Given the description of an element on the screen output the (x, y) to click on. 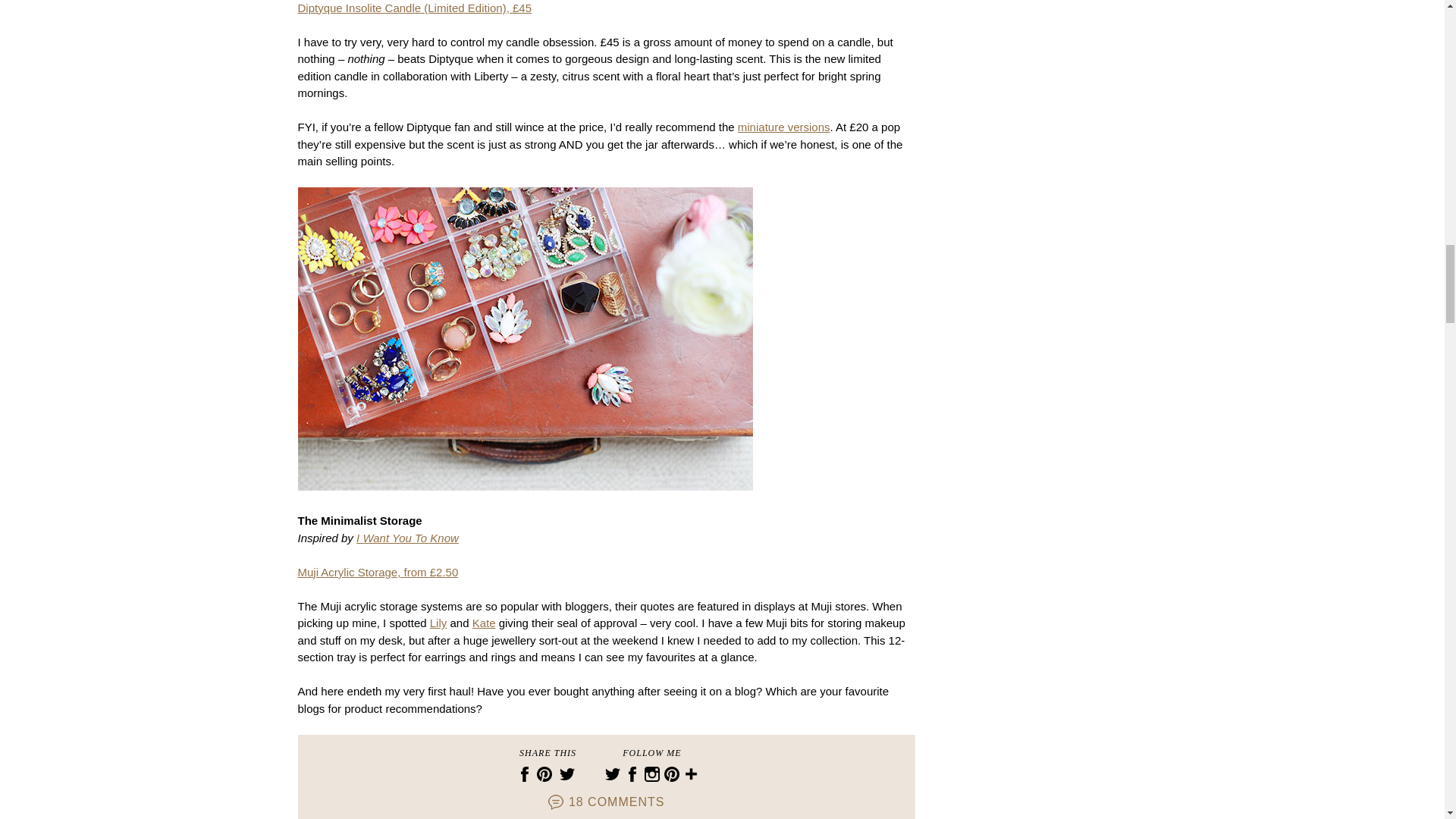
Kate (483, 622)
Lily (437, 622)
I Want You To Know (407, 537)
muji jewellery storage ideas by jenlittlebird, on Flickr (524, 503)
miniature versions (783, 126)
